Given the description of an element on the screen output the (x, y) to click on. 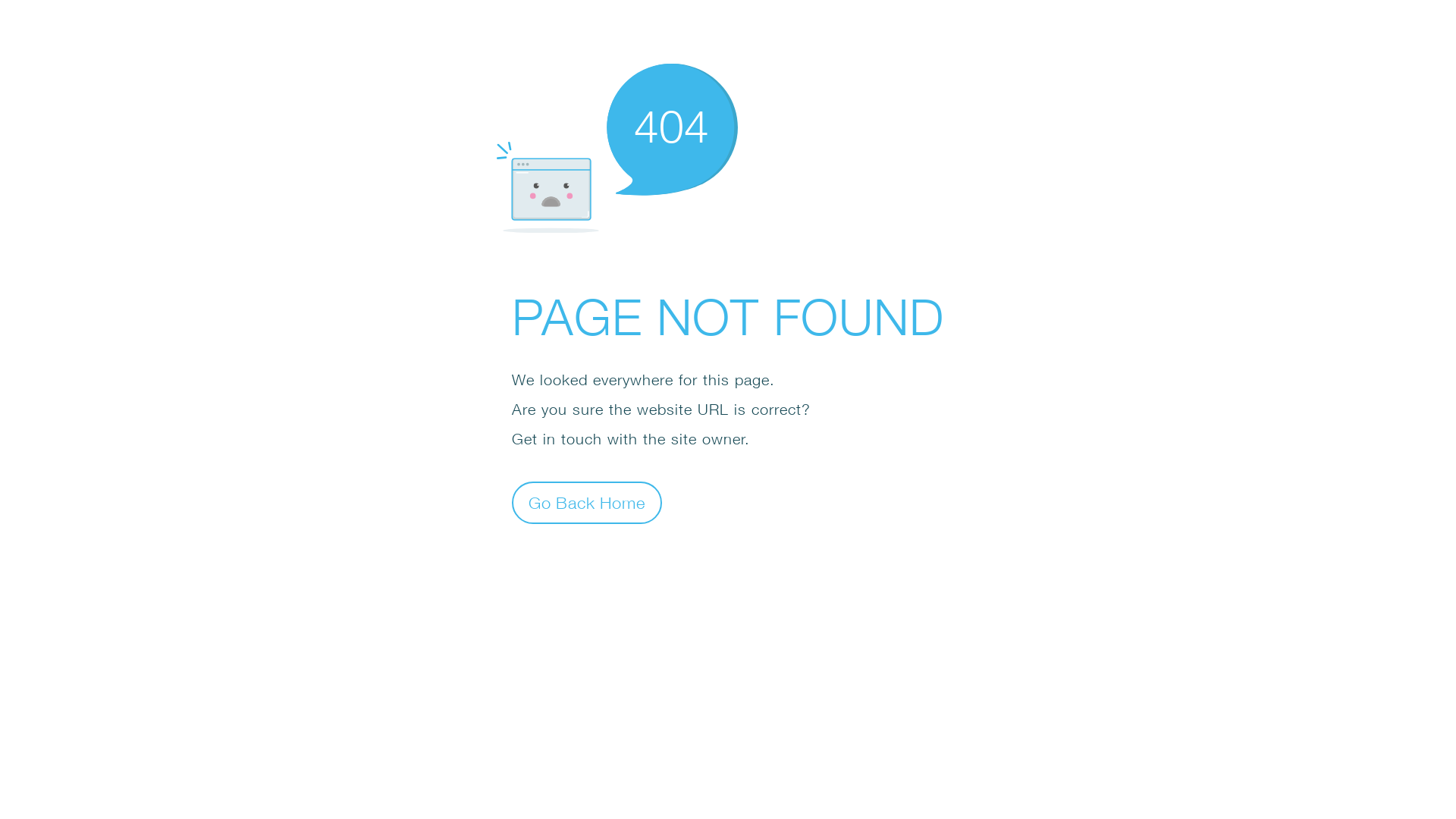
Go Back Home Element type: text (586, 502)
